Given the description of an element on the screen output the (x, y) to click on. 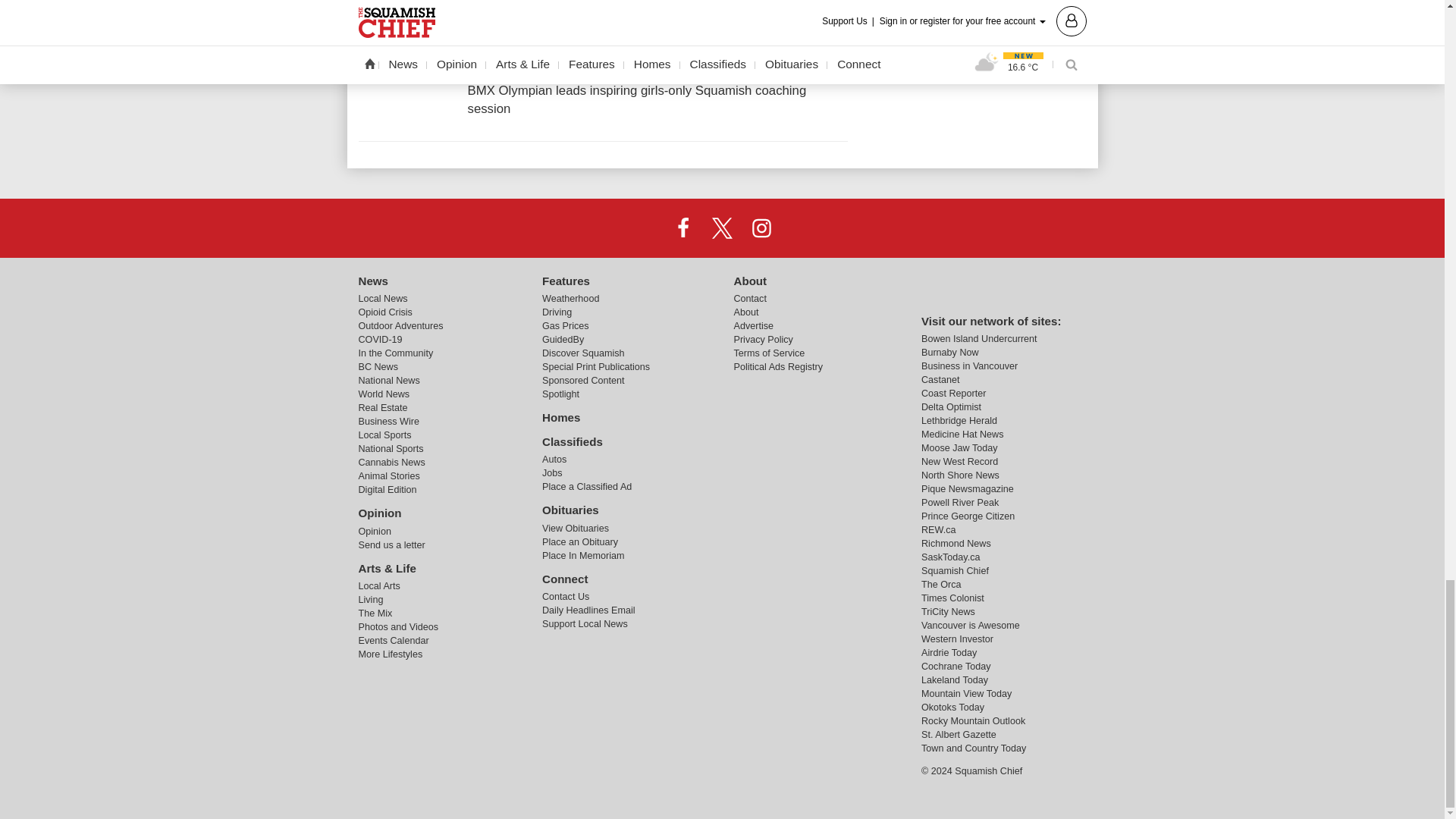
Facebook (683, 226)
Instagram (760, 226)
X (721, 226)
